Given the description of an element on the screen output the (x, y) to click on. 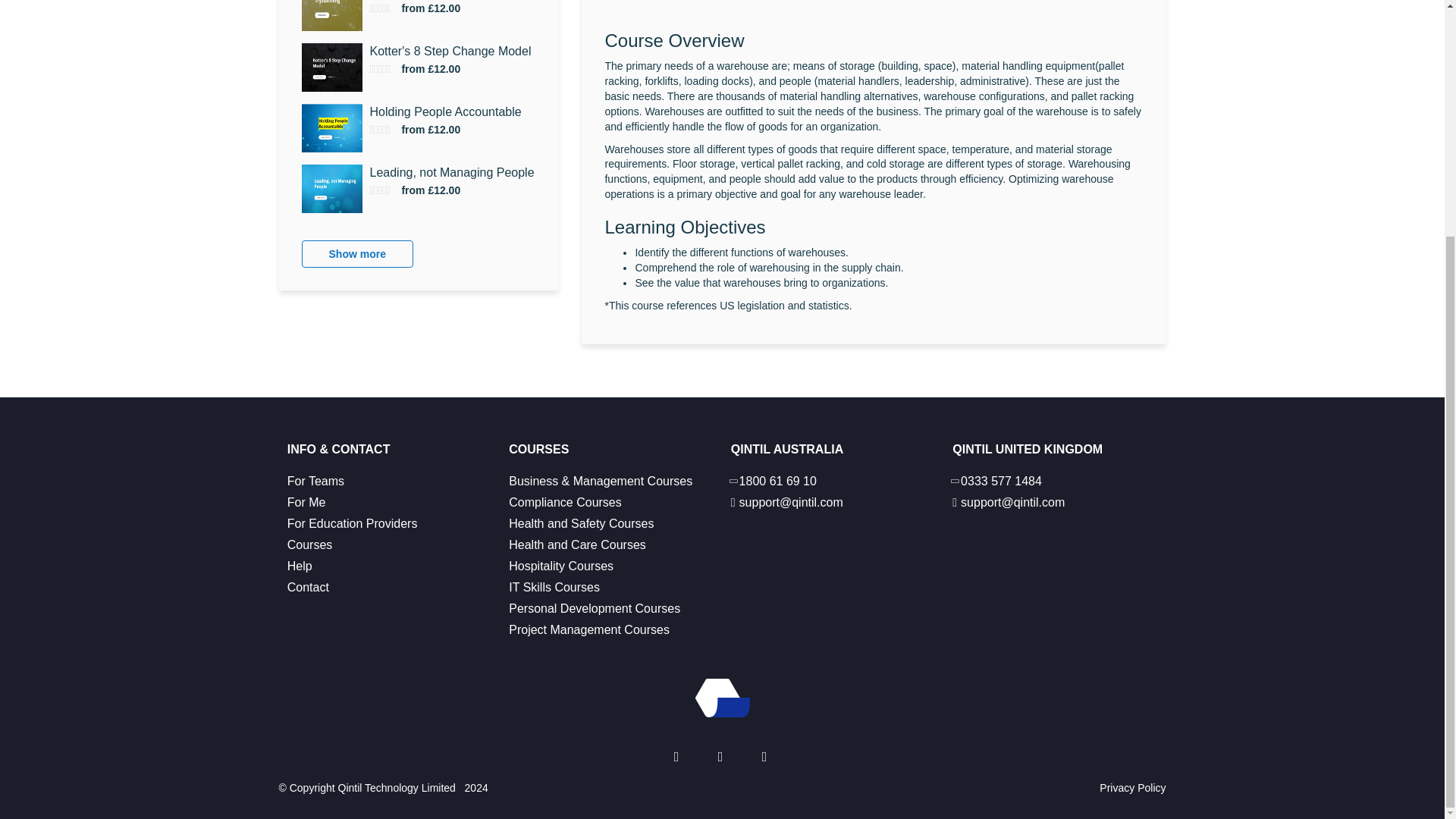
Logo (721, 697)
